Given the description of an element on the screen output the (x, y) to click on. 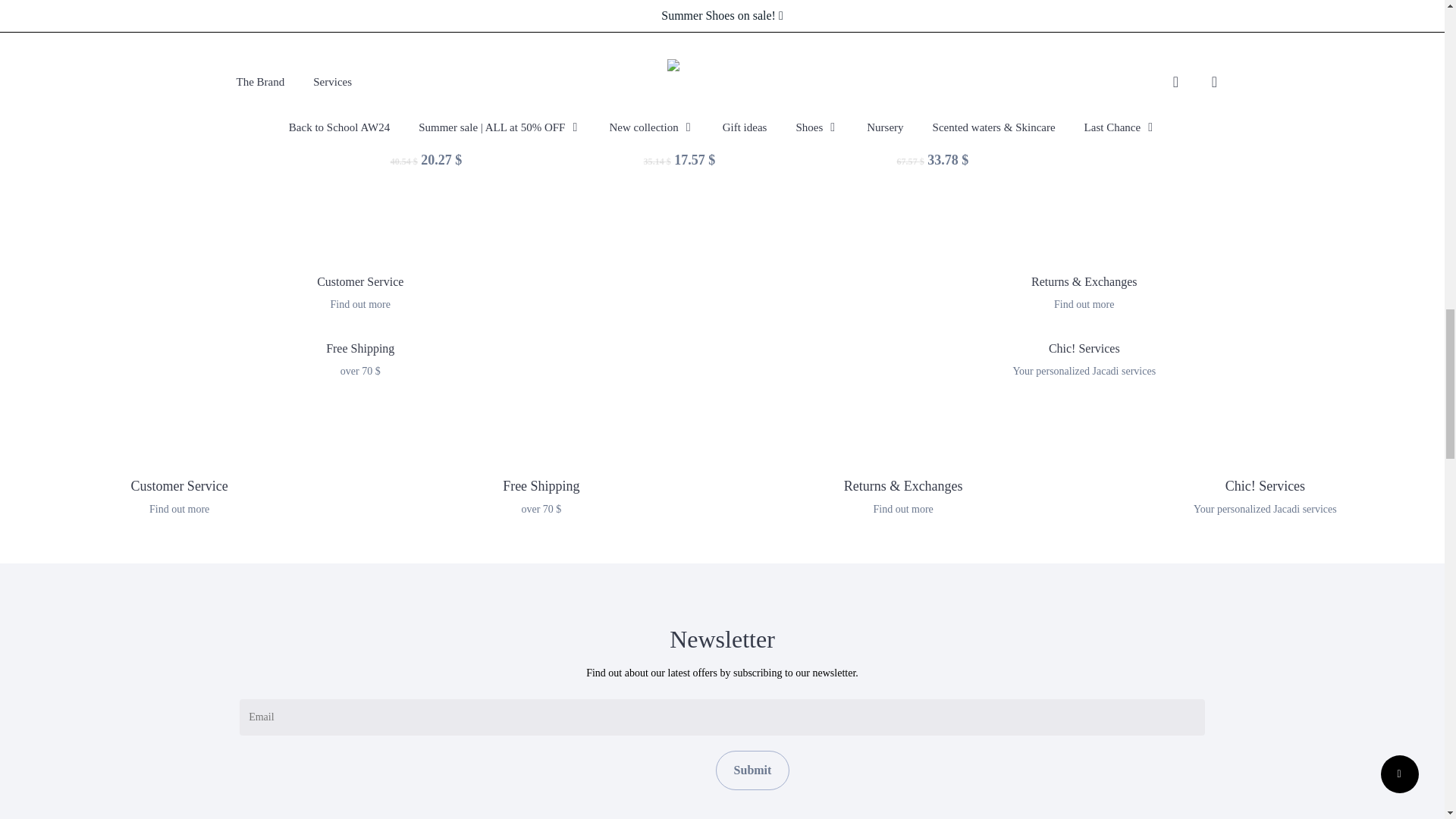
Padded play mat (848, 56)
Musical bird plush toy (1101, 56)
Liberty Betsy round cushion (341, 56)
Submit (753, 770)
Liberty print cat plush toy (594, 56)
